Given the description of an element on the screen output the (x, y) to click on. 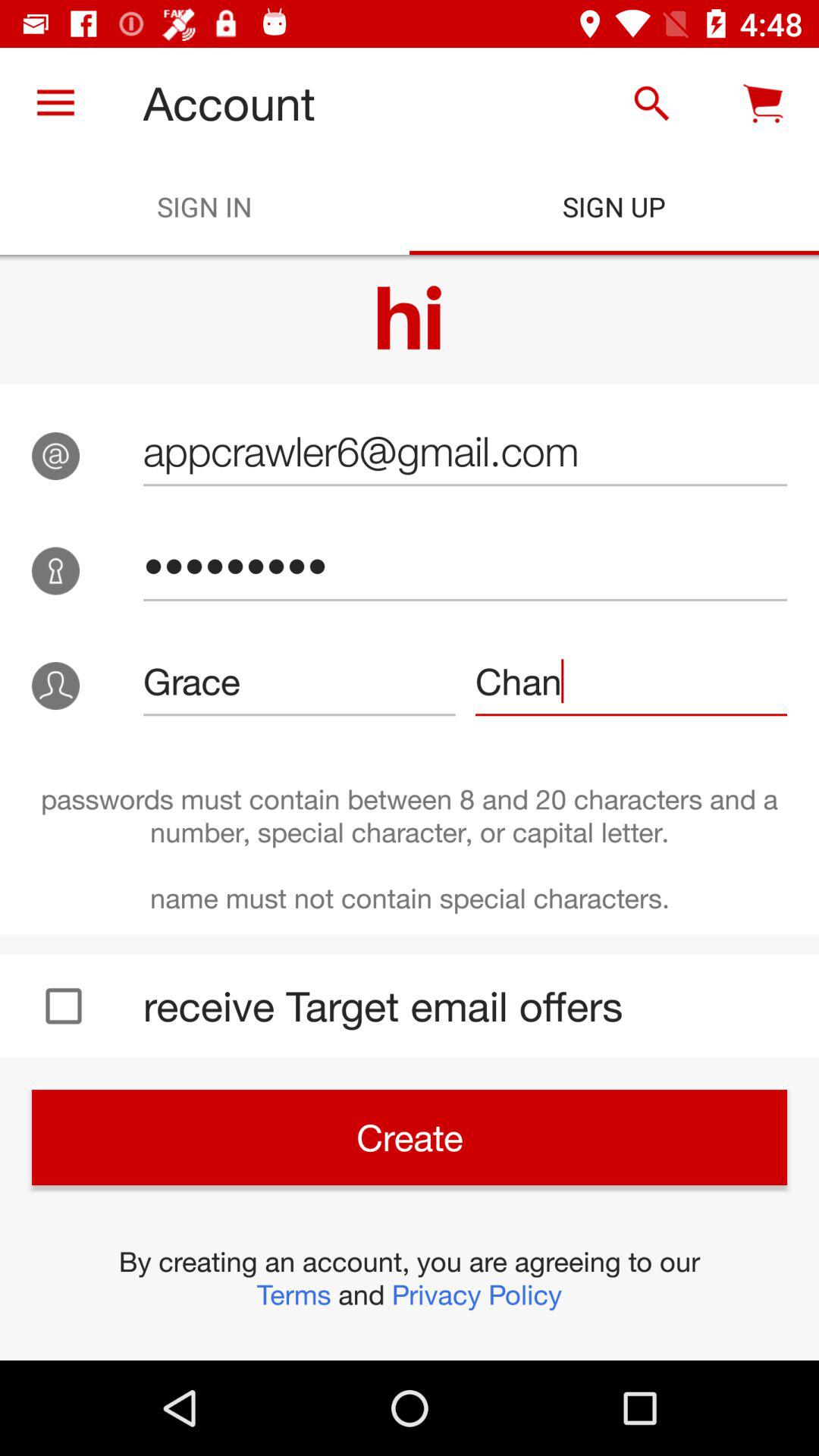
open the icon above the sign up (651, 103)
